Given the description of an element on the screen output the (x, y) to click on. 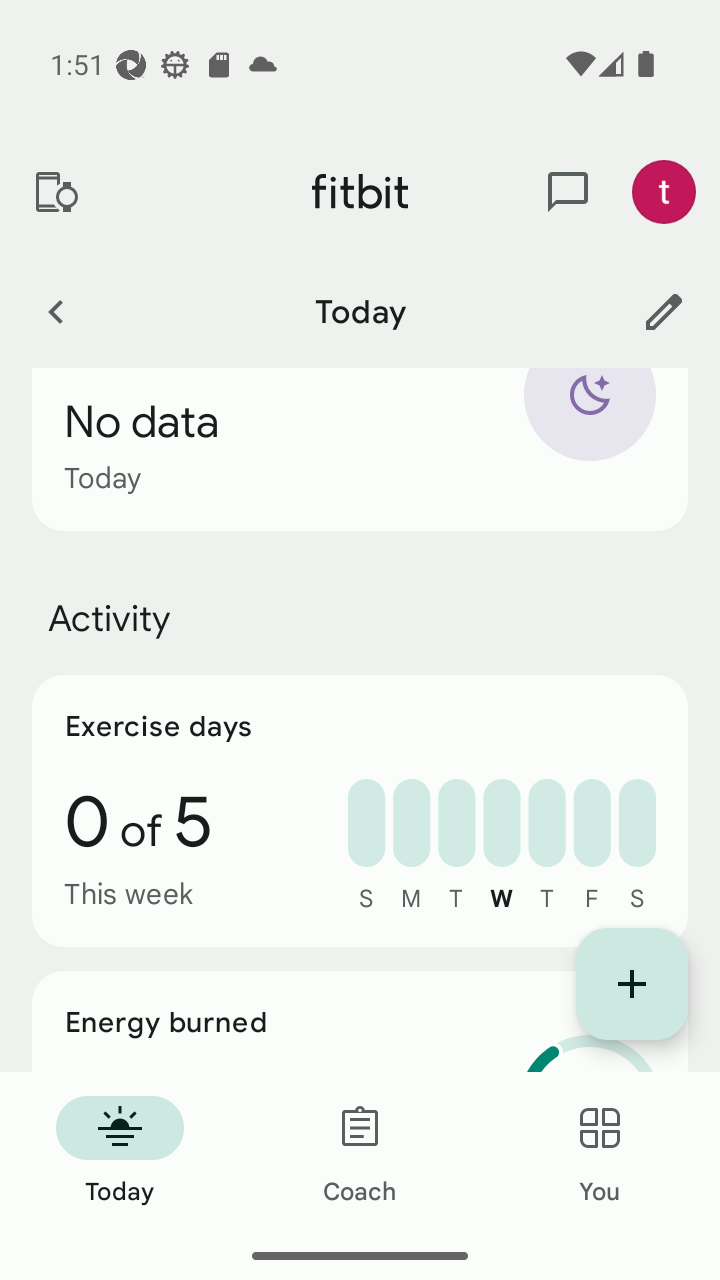
Devices and apps (55, 191)
messages and notifications (567, 191)
Previous Day (55, 311)
Customize (664, 311)
No data Today Sleep static arc (359, 449)
Exercise days 0 of 5 This week (359, 810)
Display list of quick log entries (632, 983)
Energy burned (359, 1021)
Coach (359, 1151)
You (600, 1151)
